Given the description of an element on the screen output the (x, y) to click on. 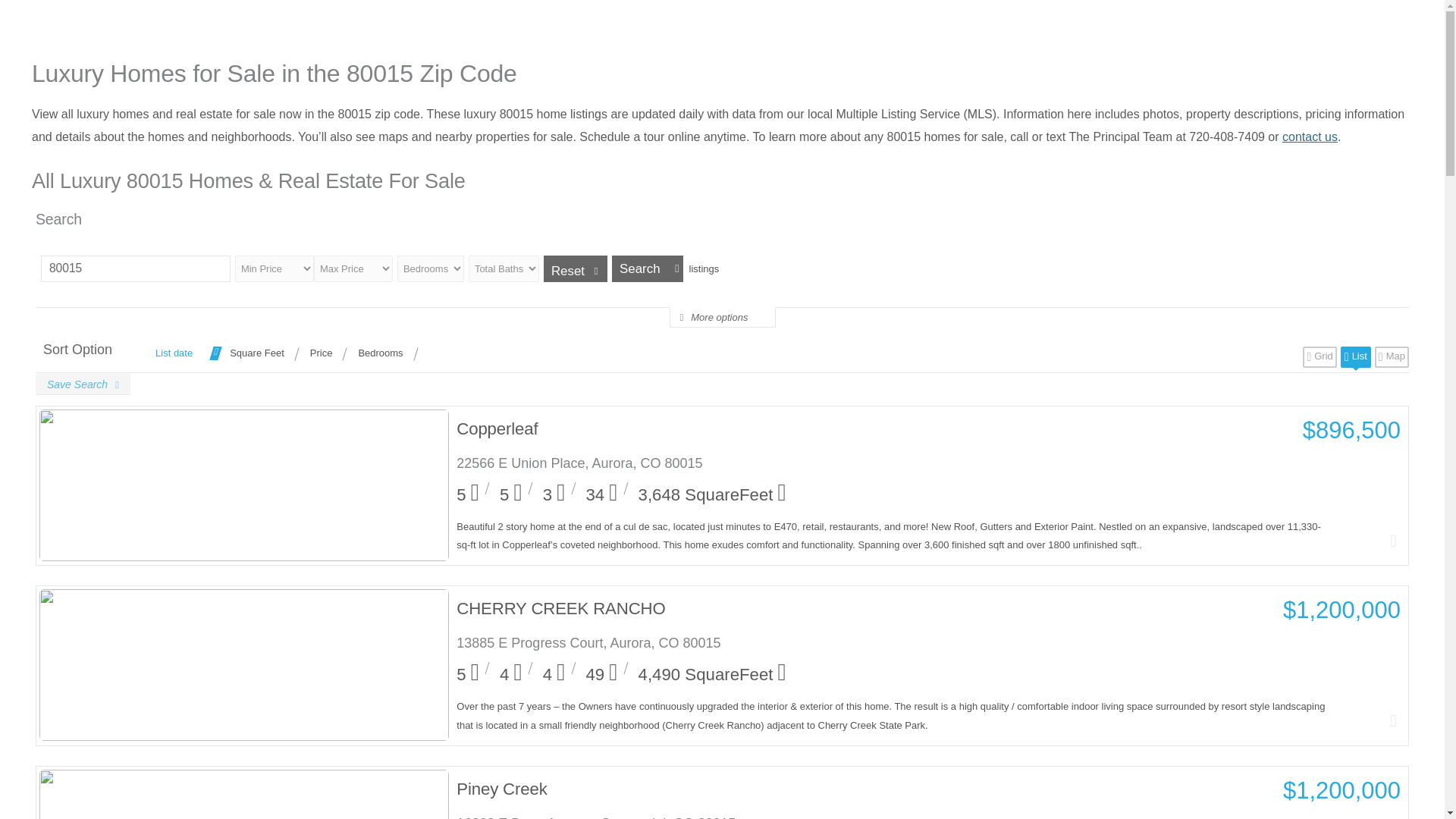
CHERRY CREEK RANCHO (893, 608)
Search (646, 268)
80015 (135, 268)
Search (646, 268)
80015 (135, 268)
Piney Creek (893, 788)
Copperleaf (893, 428)
